Given the description of an element on the screen output the (x, y) to click on. 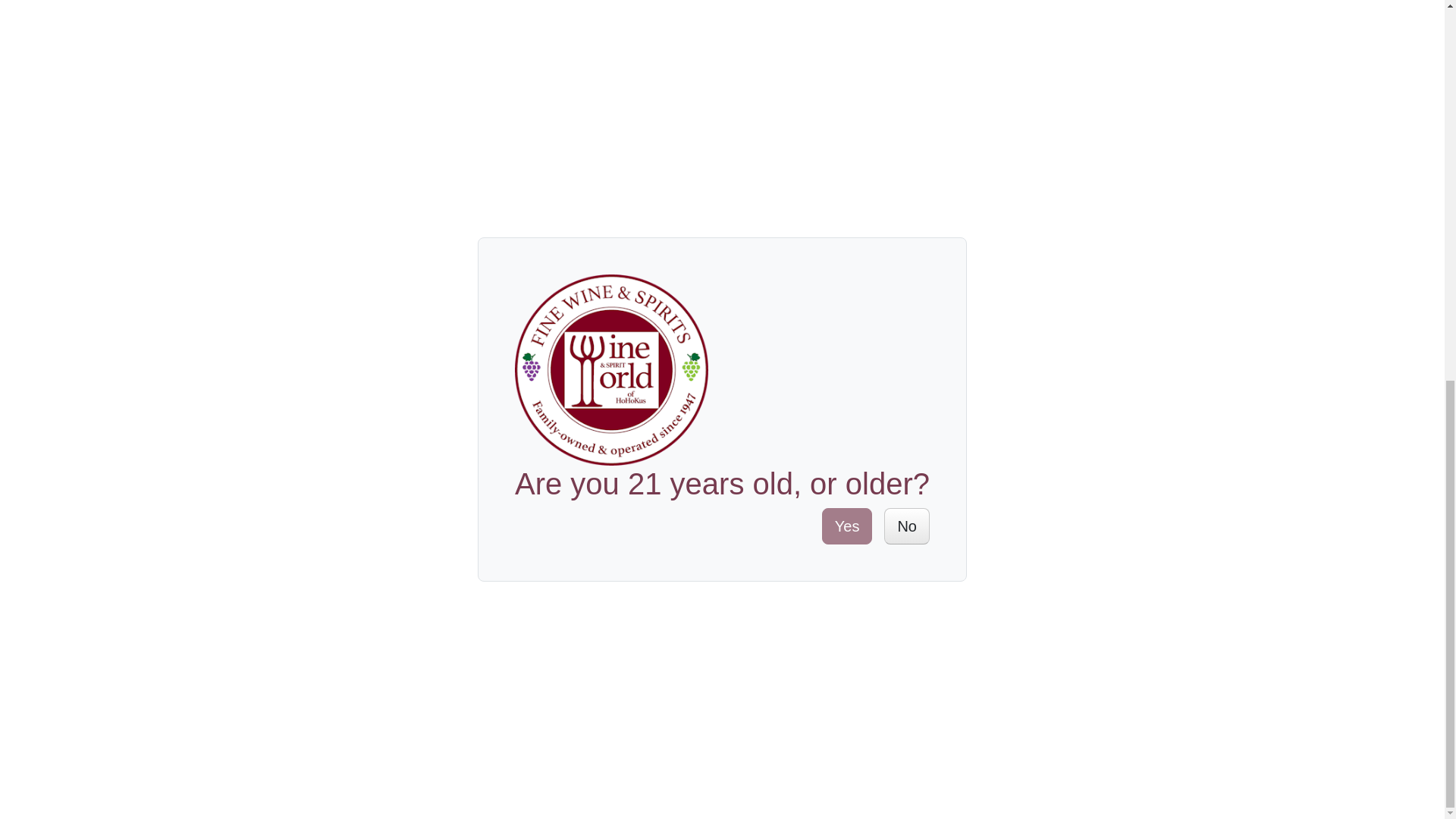
Barbanera (349, 23)
